Given the description of an element on the screen output the (x, y) to click on. 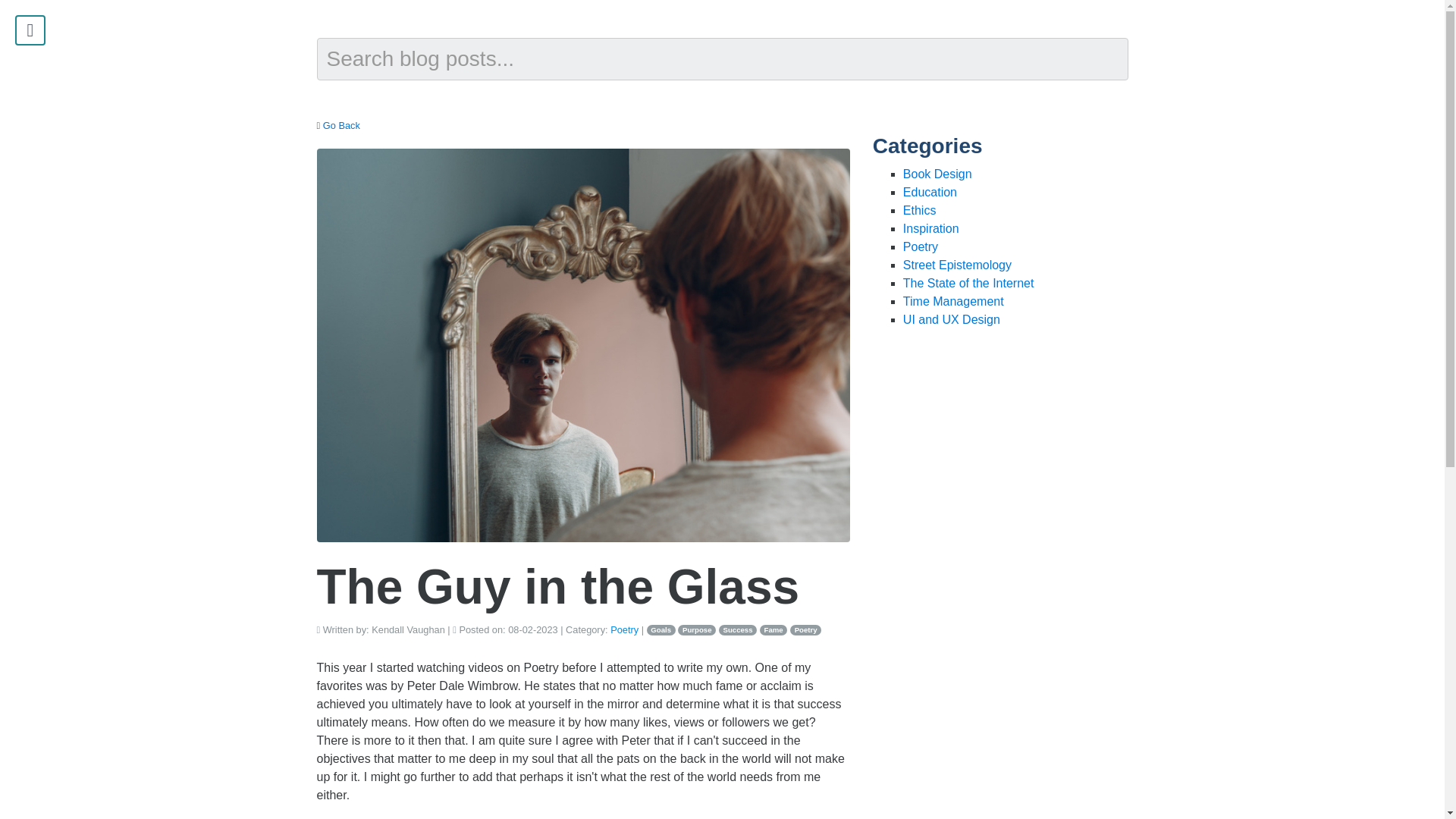
Education (929, 192)
Success (738, 629)
Book Design (937, 173)
Poetry (805, 629)
Street Epistemology (956, 264)
Ethics (919, 210)
Purpose (697, 629)
Goals (660, 629)
Go Back (341, 125)
Poetry (624, 629)
